Given the description of an element on the screen output the (x, y) to click on. 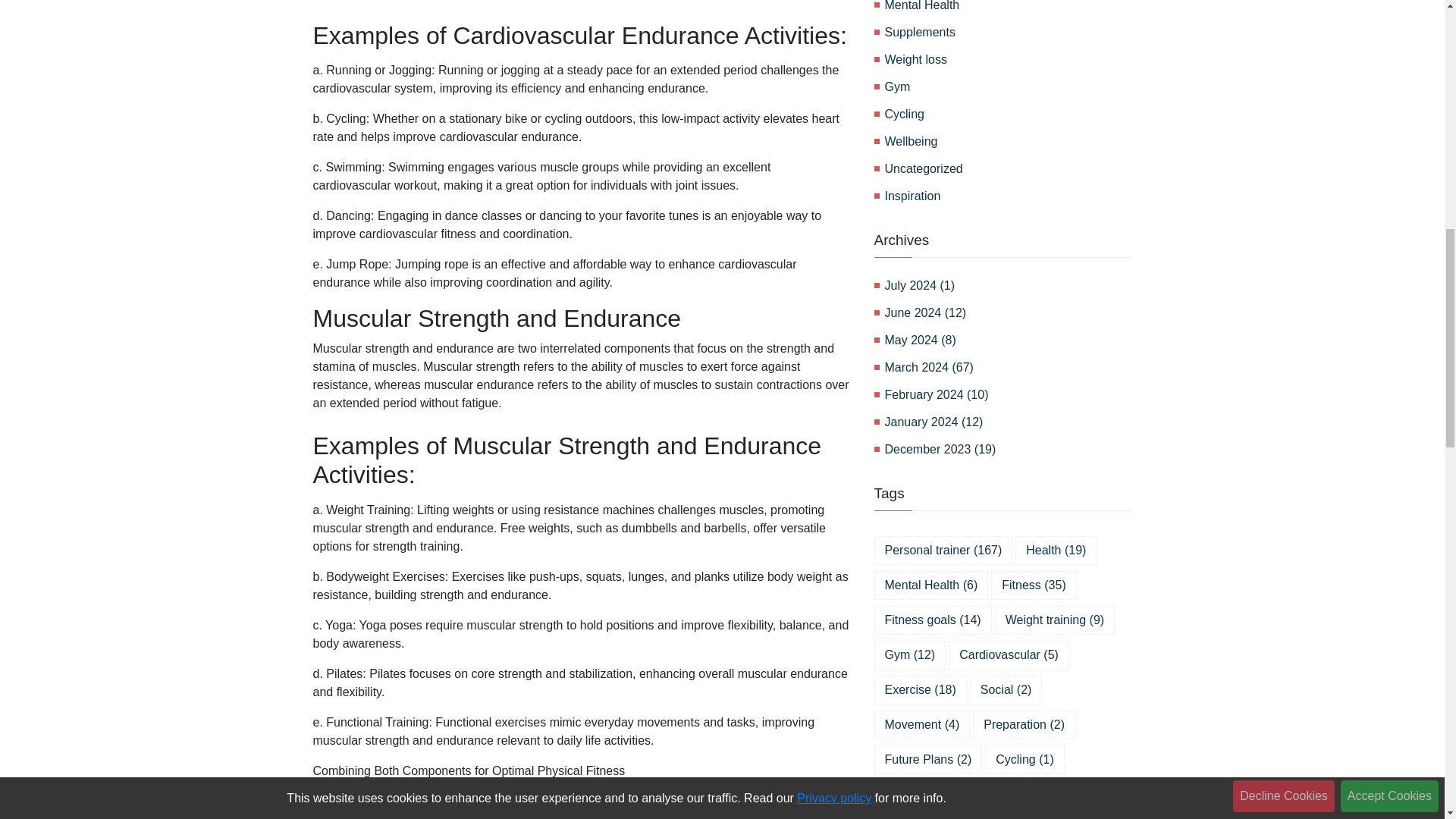
Gym (1007, 86)
Wellbeing (1007, 141)
Mental Health (1007, 7)
Supplements (1007, 32)
Cycling (1007, 114)
Weight loss (1007, 59)
